Given the description of an element on the screen output the (x, y) to click on. 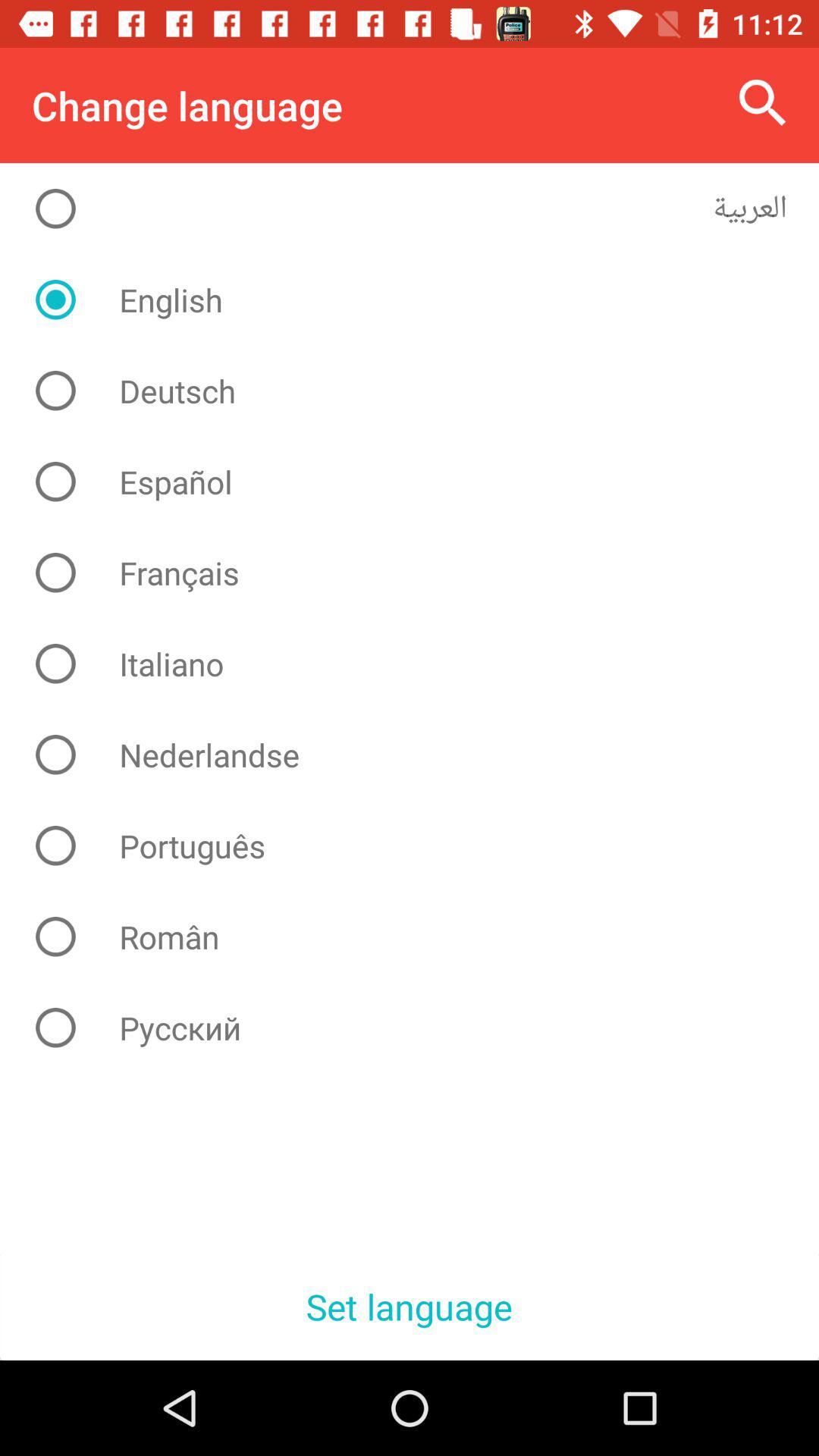
press the nederlandse icon (421, 754)
